Given the description of an element on the screen output the (x, y) to click on. 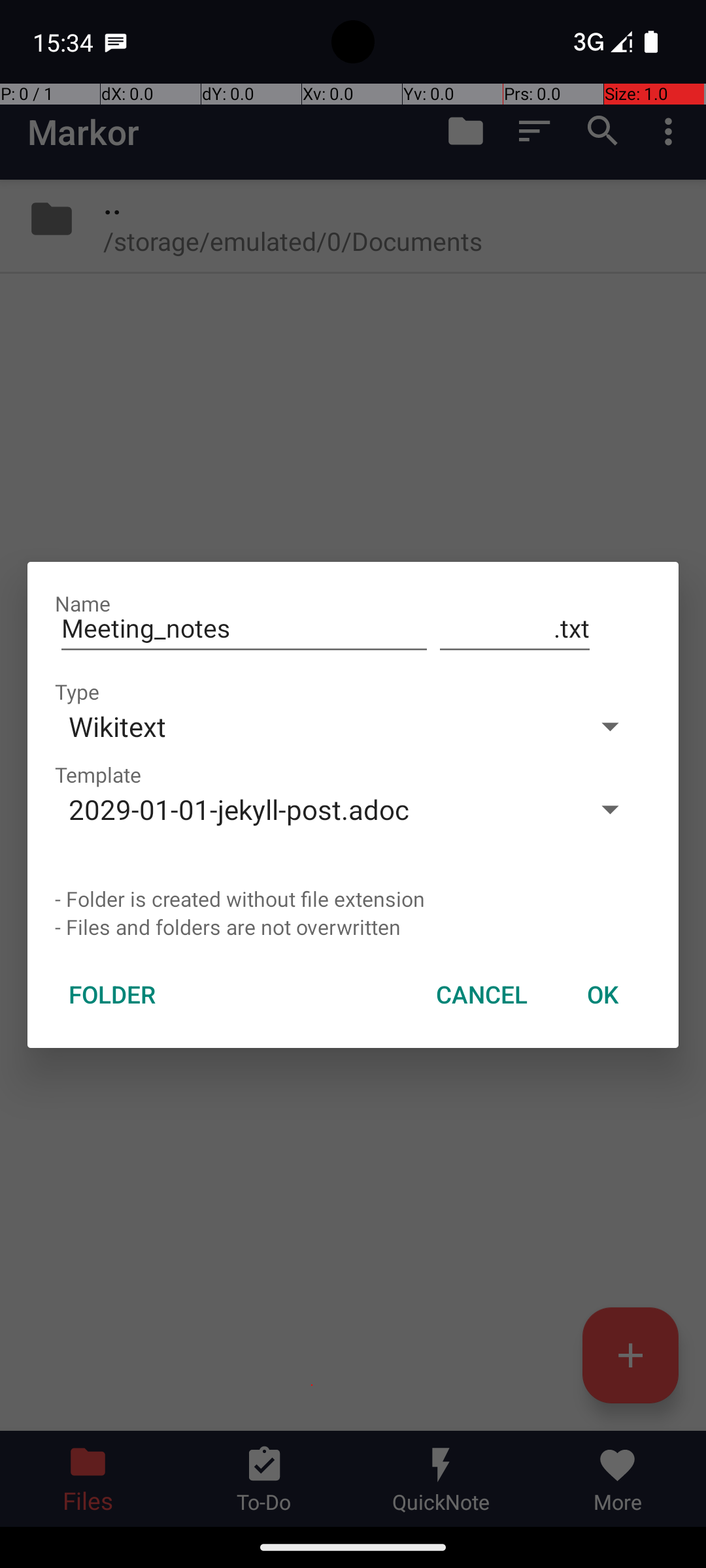
Meeting_notes Element type: android.widget.EditText (243, 628)
.txt Element type: android.widget.EditText (514, 628)
Type Element type: android.widget.TextView (76, 691)
Template Element type: android.widget.TextView (97, 774)
- Folder is created without file extension Element type: android.widget.TextView (352, 898)
- Files and folders are not overwritten Element type: android.widget.TextView (352, 926)
FOLDER Element type: android.widget.Button (111, 993)
Wikitext Element type: android.widget.TextView (311, 725)
2029-01-01-jekyll-post.adoc Element type: android.widget.TextView (311, 808)
